Given the description of an element on the screen output the (x, y) to click on. 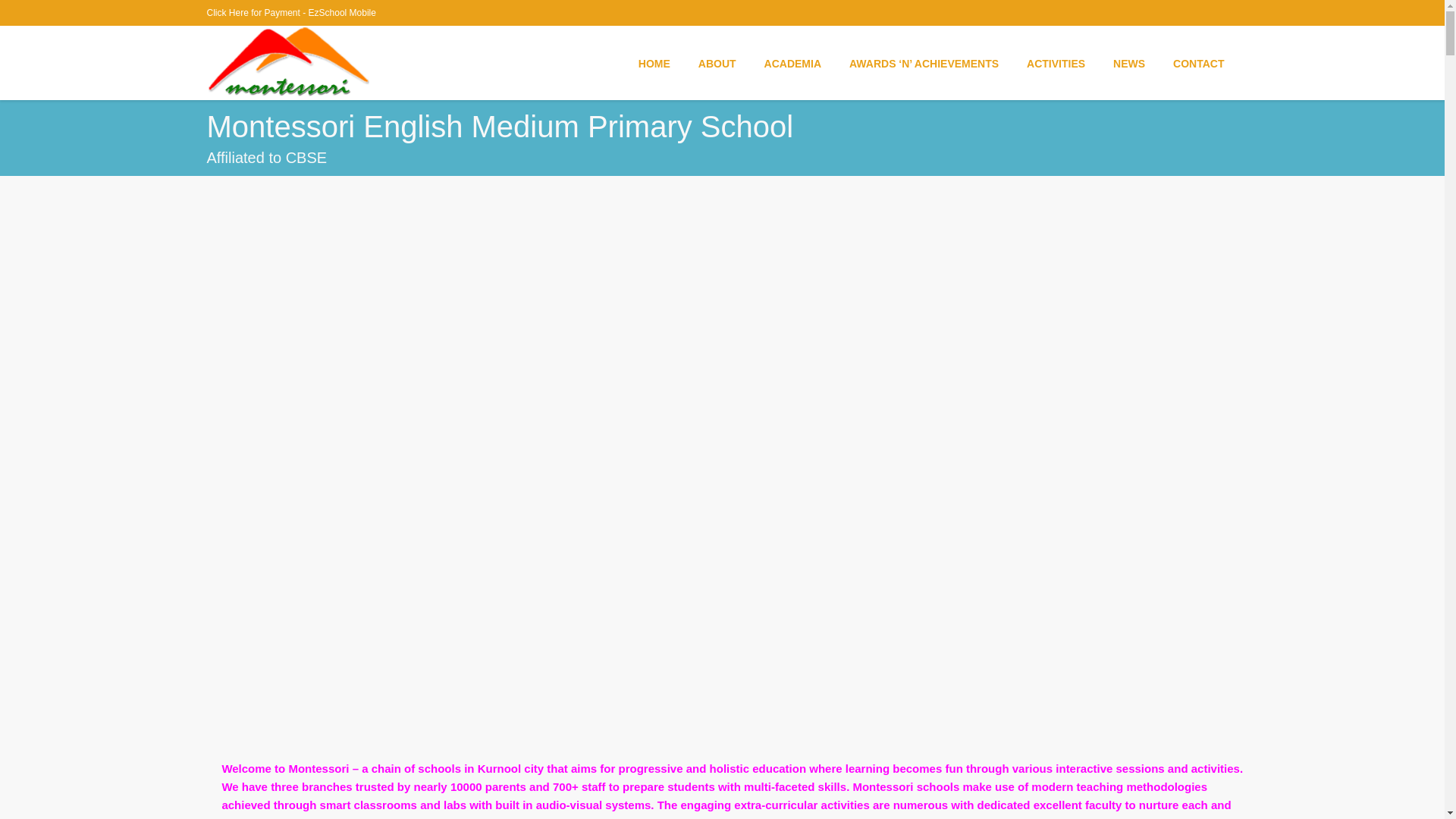
ACTIVITIES (1056, 62)
ACADEMIA (792, 62)
EzSchool Mobile (341, 12)
CONTACT (1197, 62)
